Given the description of an element on the screen output the (x, y) to click on. 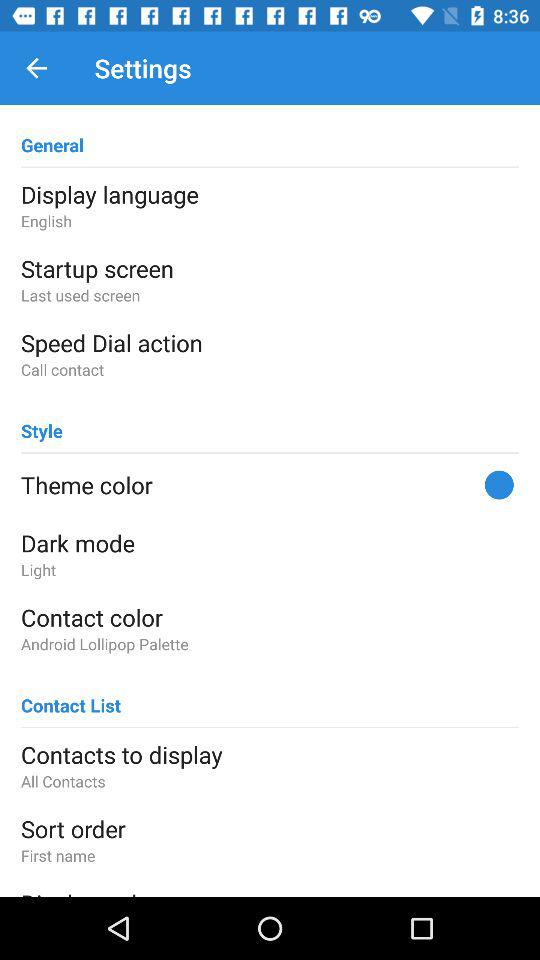
click the contact list icon (71, 696)
